Given the description of an element on the screen output the (x, y) to click on. 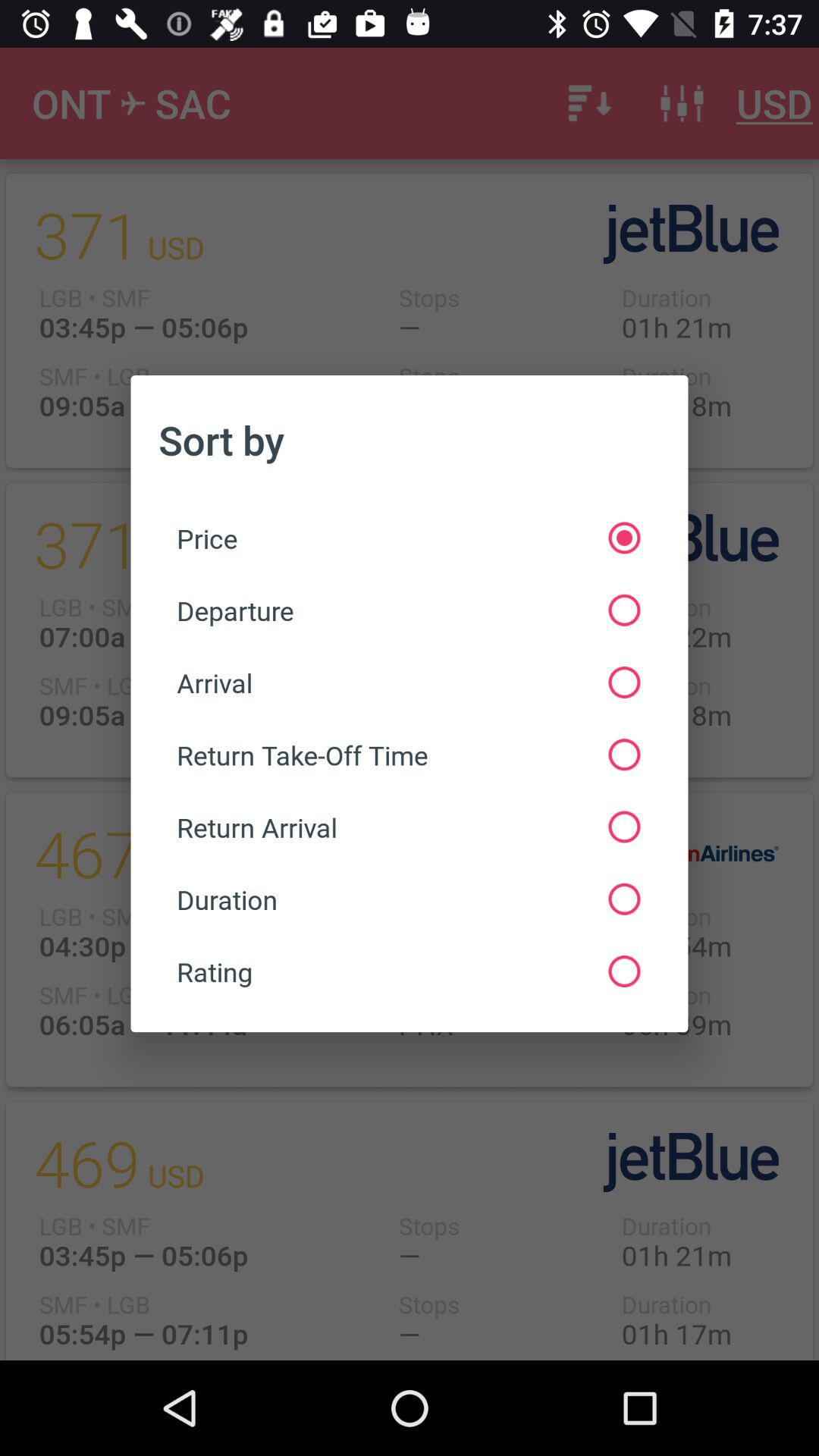
tap duration (408, 899)
